Given the description of an element on the screen output the (x, y) to click on. 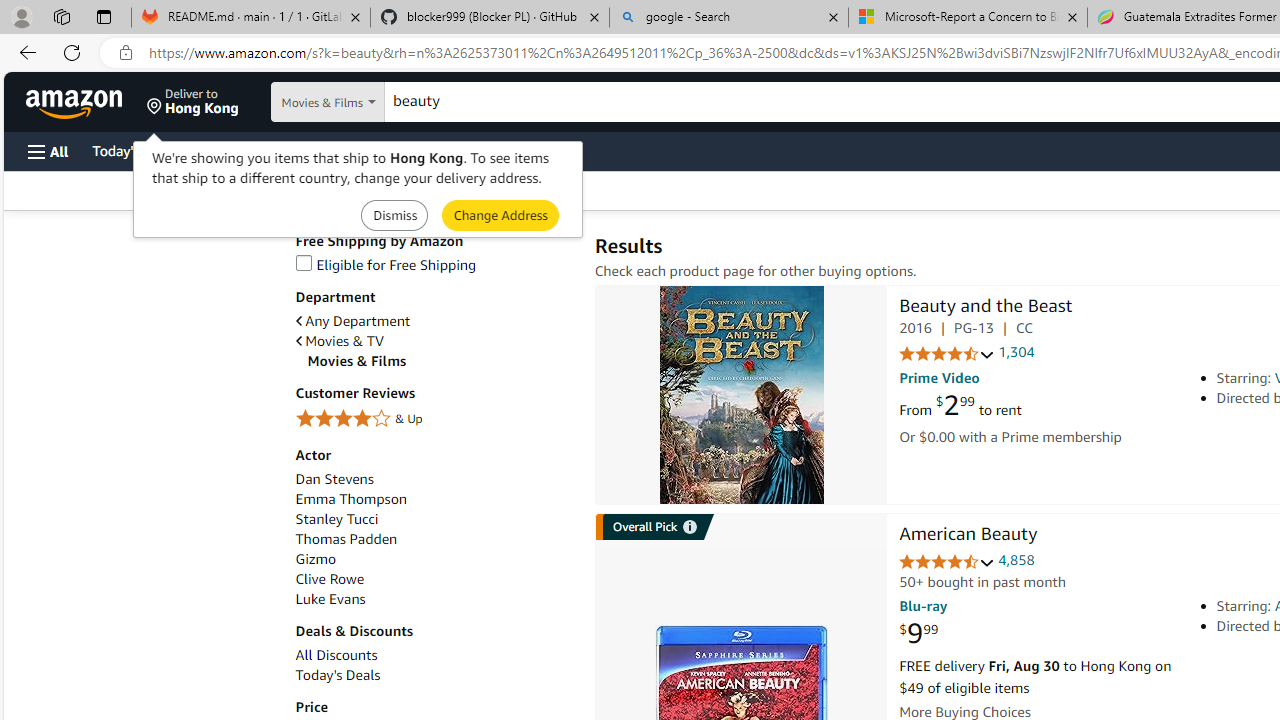
Movies & TV (339, 341)
4,858 (1016, 560)
4 Stars & Up (434, 419)
Search in (371, 102)
Prime Video (939, 378)
Deliver to Hong Kong (193, 101)
Clive Rowe (329, 579)
Any Department (352, 321)
Emma Thompson (434, 499)
Beauty and the Beast (741, 394)
